Given the description of an element on the screen output the (x, y) to click on. 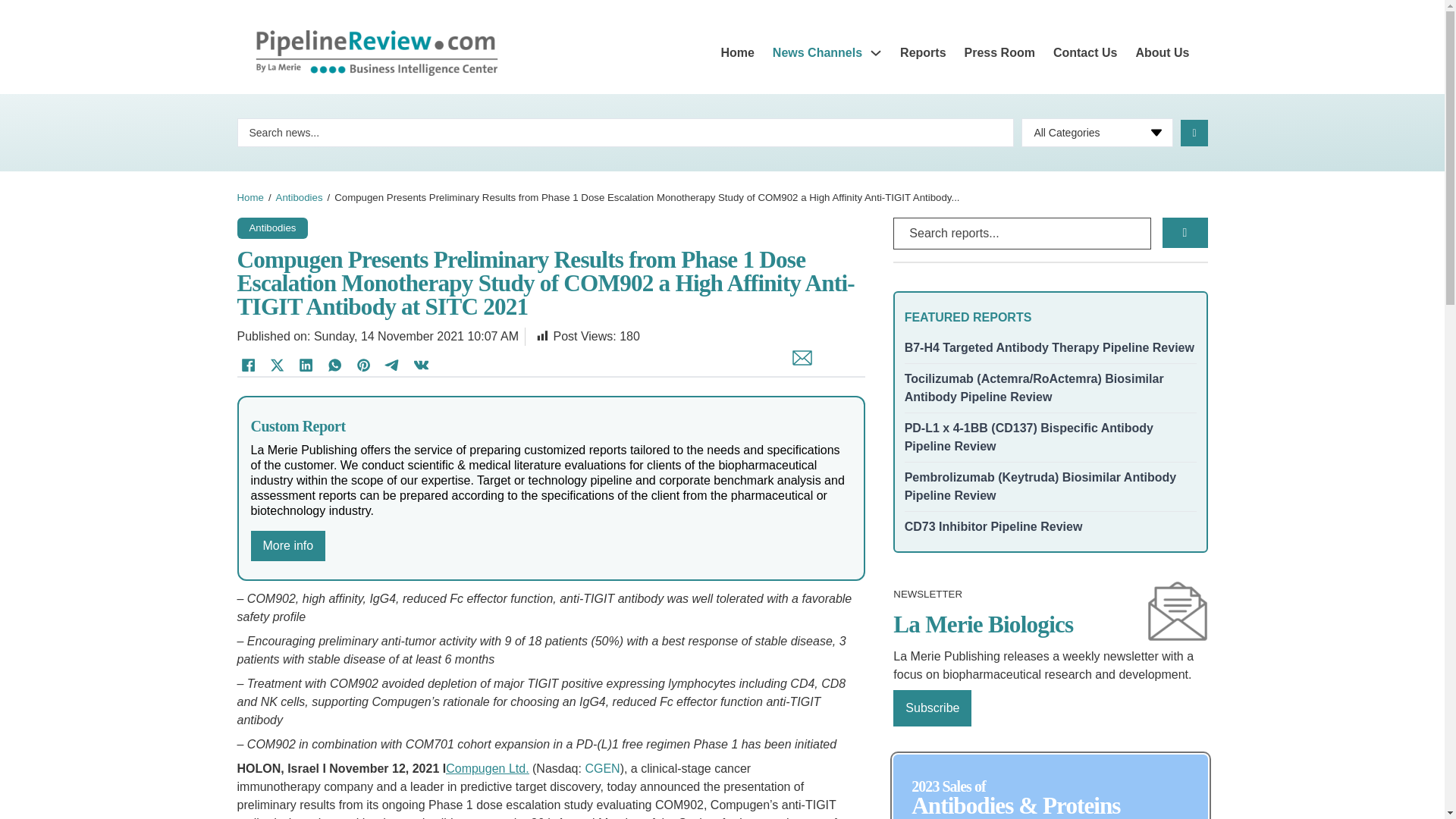
Home (737, 53)
Share by Email (798, 365)
News Channels (817, 53)
Press Room (999, 53)
Home (249, 197)
Compugen Ltd. (486, 768)
Reports (921, 53)
About Us (1162, 53)
All Categories (1097, 132)
CGEN (602, 768)
